Given the description of an element on the screen output the (x, y) to click on. 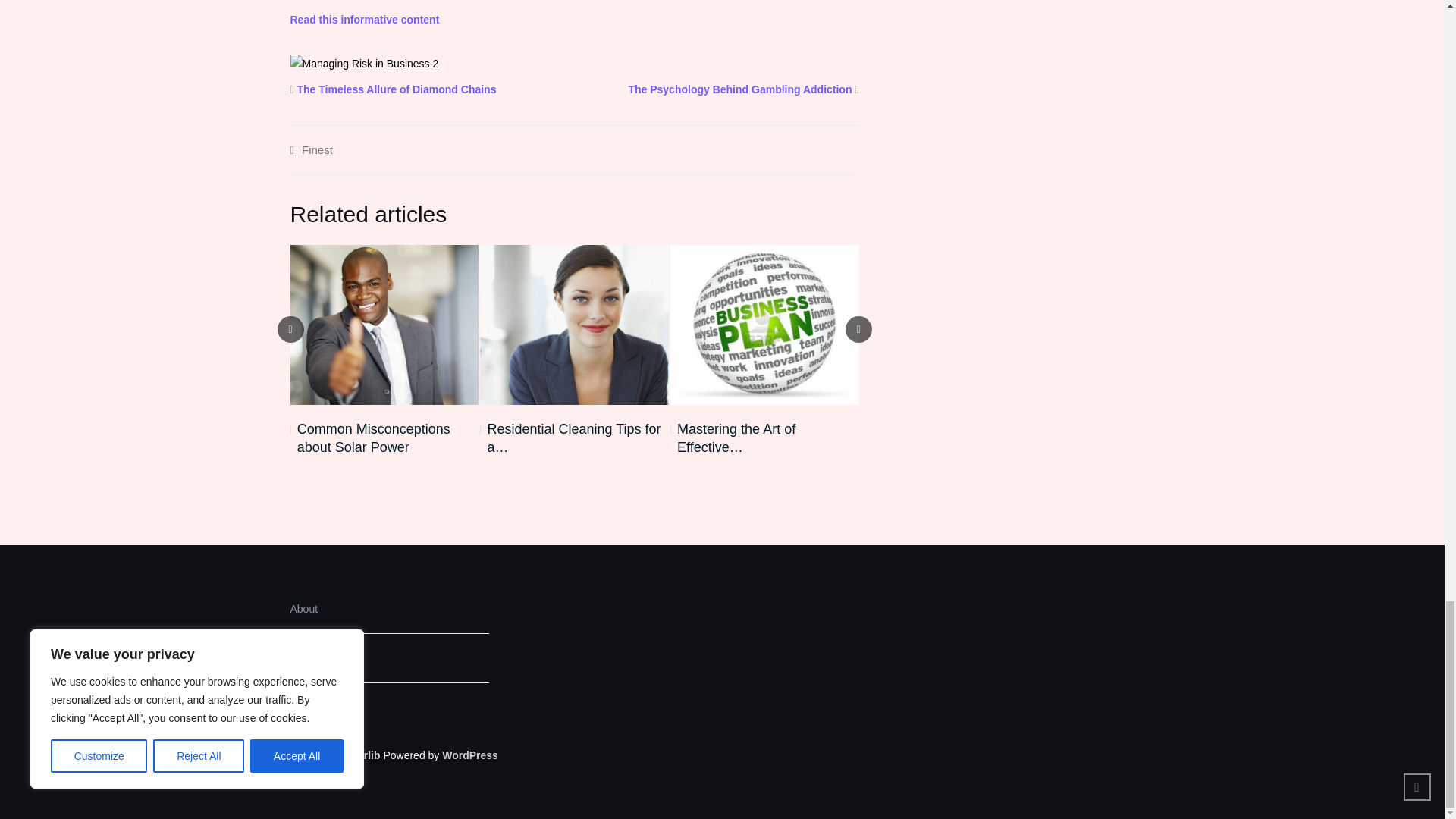
Finest (317, 149)
The Timeless Allure of Diamond Chains (396, 89)
Colorlib (360, 755)
The Psychology Behind Gambling Addiction (739, 89)
WordPress.org (469, 755)
Read this informative content (364, 19)
